Given the description of an element on the screen output the (x, y) to click on. 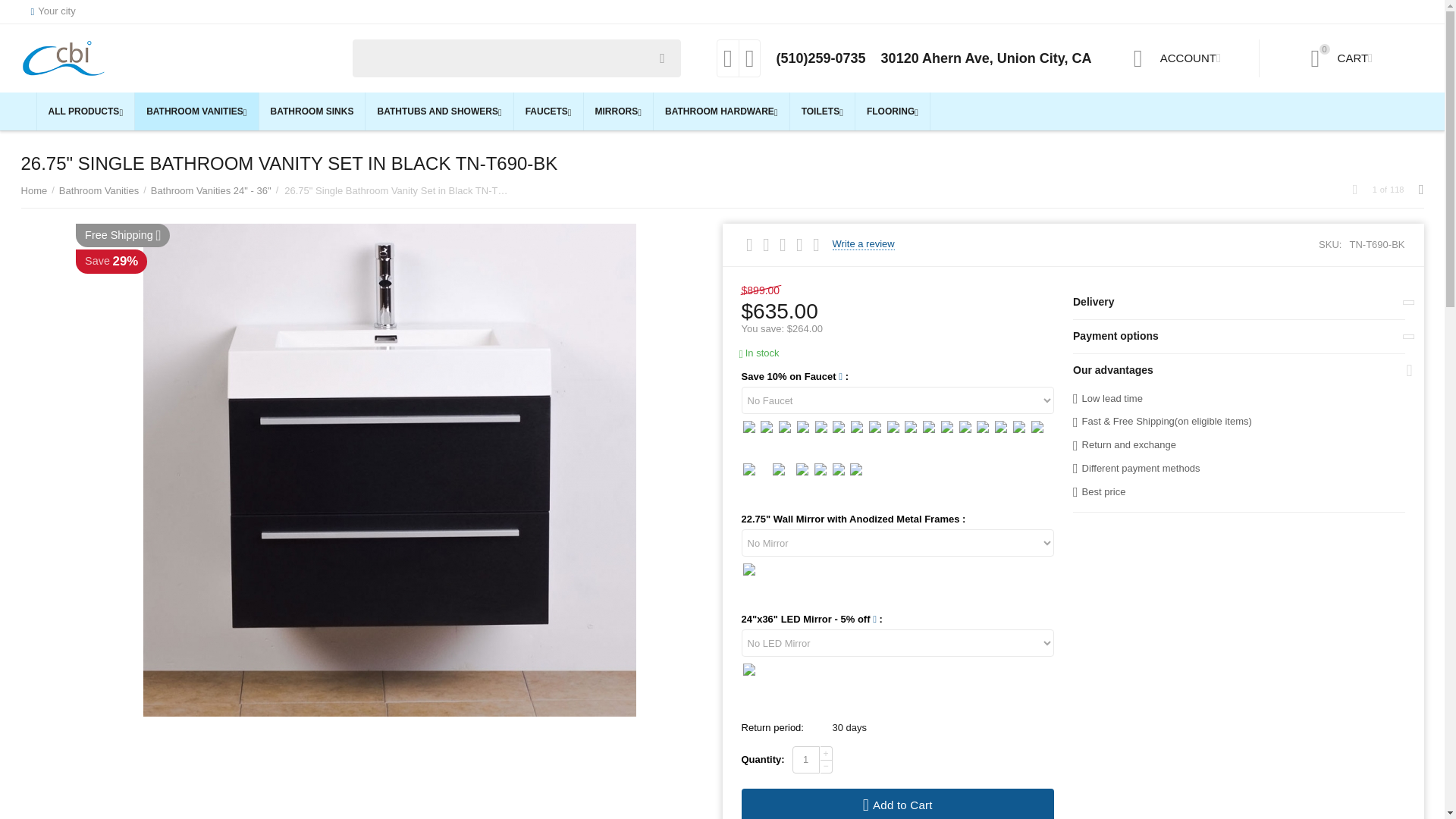
ACCOUNT (1177, 57)
ALL PRODUCTS (85, 111)
30120 Ahern Ave, Union City, CA (986, 58)
1 (805, 759)
Write a review (1342, 57)
Your city (863, 244)
Search products (53, 11)
Search (516, 57)
